Given the description of an element on the screen output the (x, y) to click on. 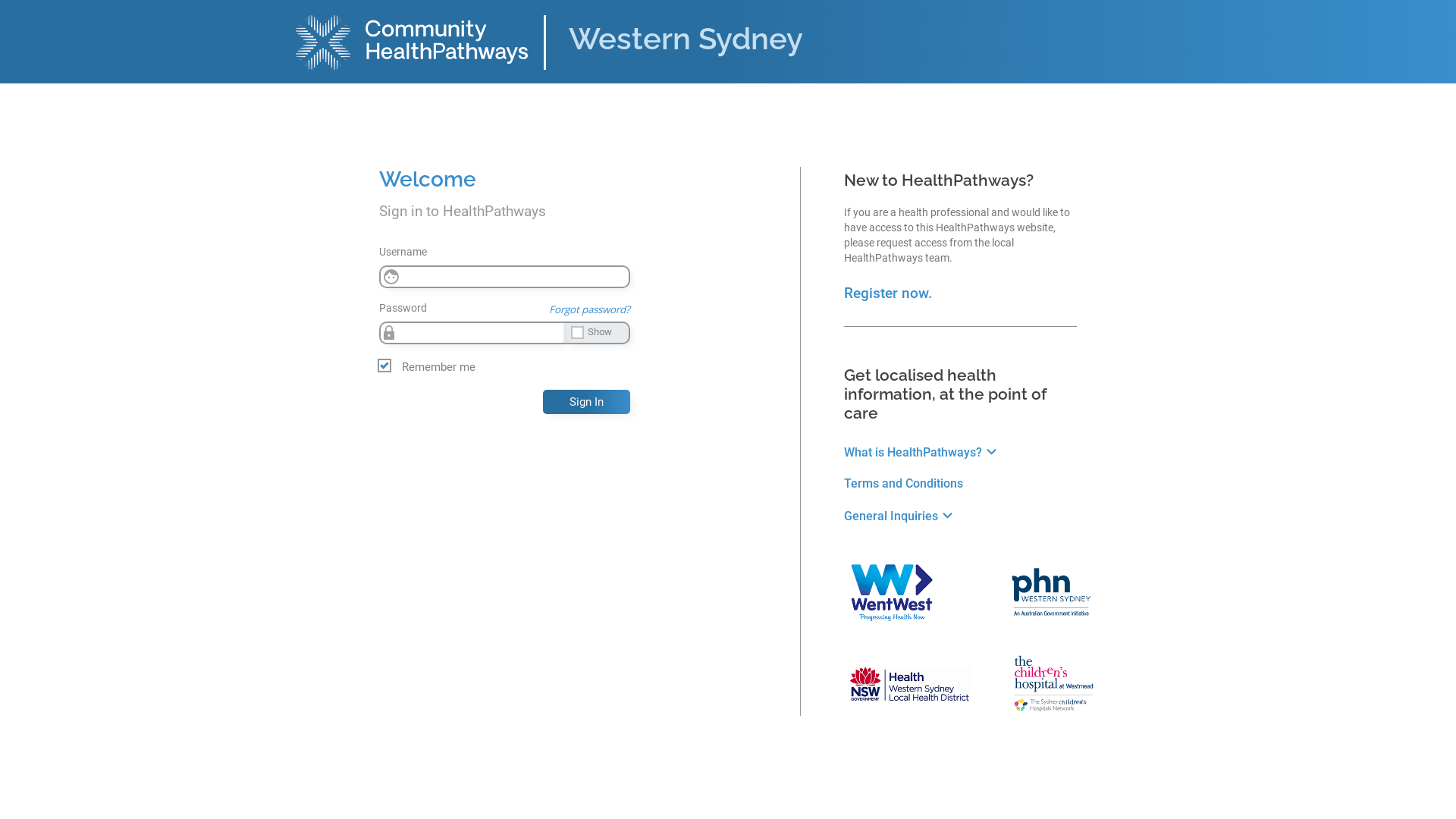
General Inquiriesexpand_more Element type: text (900, 515)
Sign In Element type: text (586, 401)
on Element type: text (4, 11)
What is HealthPathways?expand_more Element type: text (922, 452)
Register now. Element type: text (887, 293)
Terms and Conditions Element type: text (903, 483)
